Given the description of an element on the screen output the (x, y) to click on. 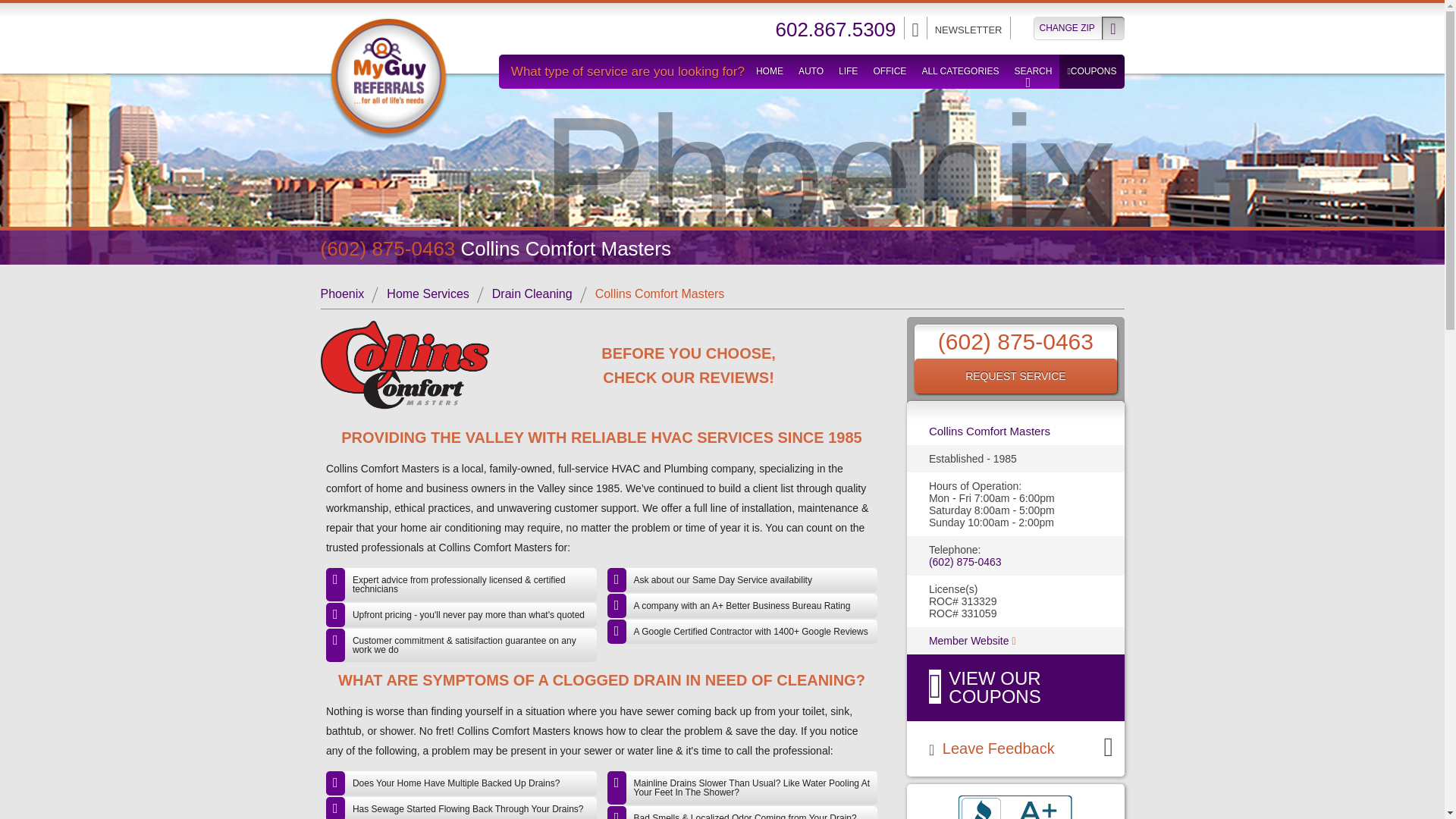
NEWSLETTER (968, 30)
OFFICE (888, 71)
ALL CATEGORIES (959, 71)
COUPONS (1091, 71)
602.867.5309 (834, 29)
Change Zip (1078, 28)
SEARCH (1032, 71)
